Given the description of an element on the screen output the (x, y) to click on. 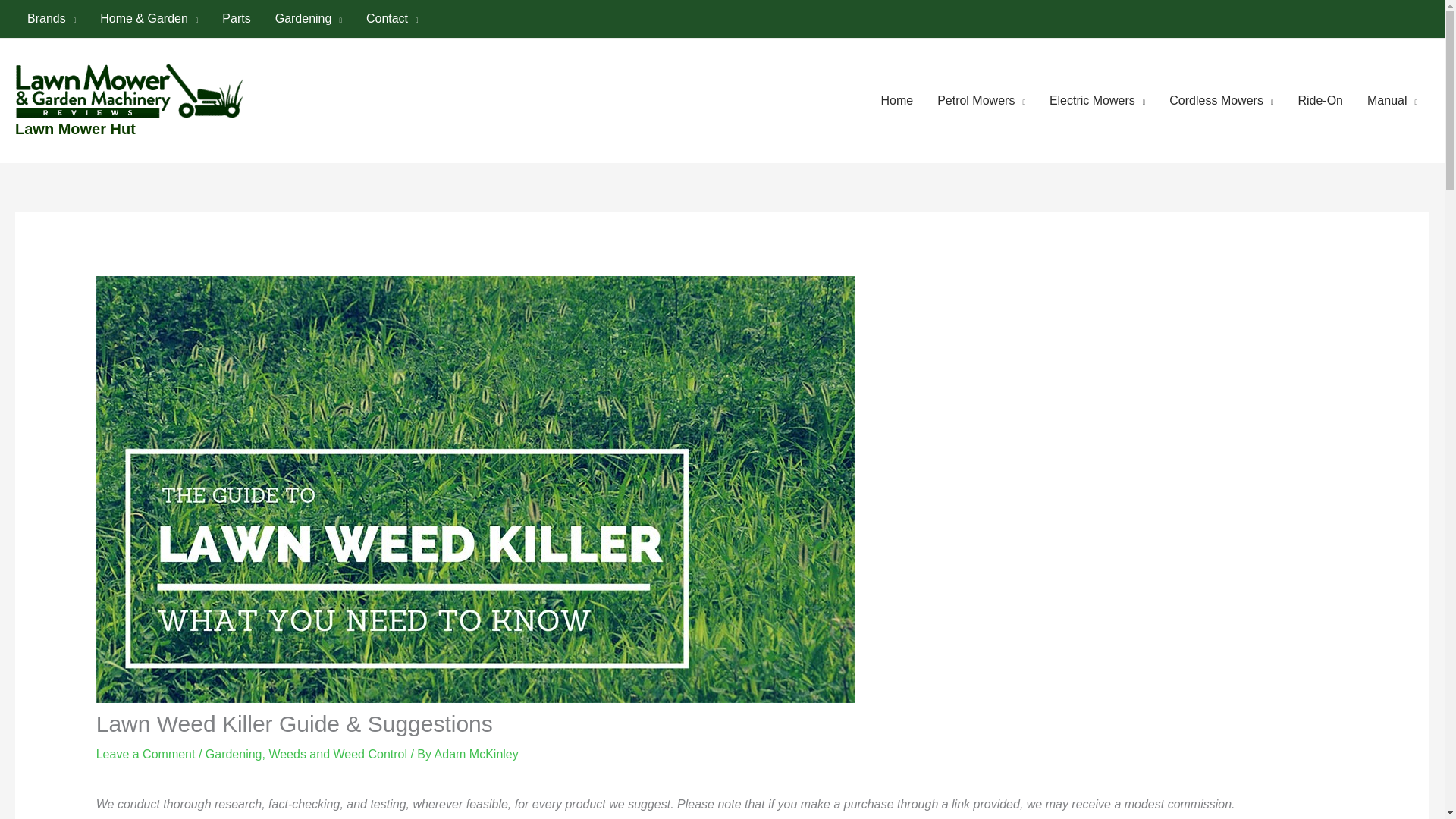
View all posts by Adam McKinley (475, 753)
Brands (50, 18)
